Given the description of an element on the screen output the (x, y) to click on. 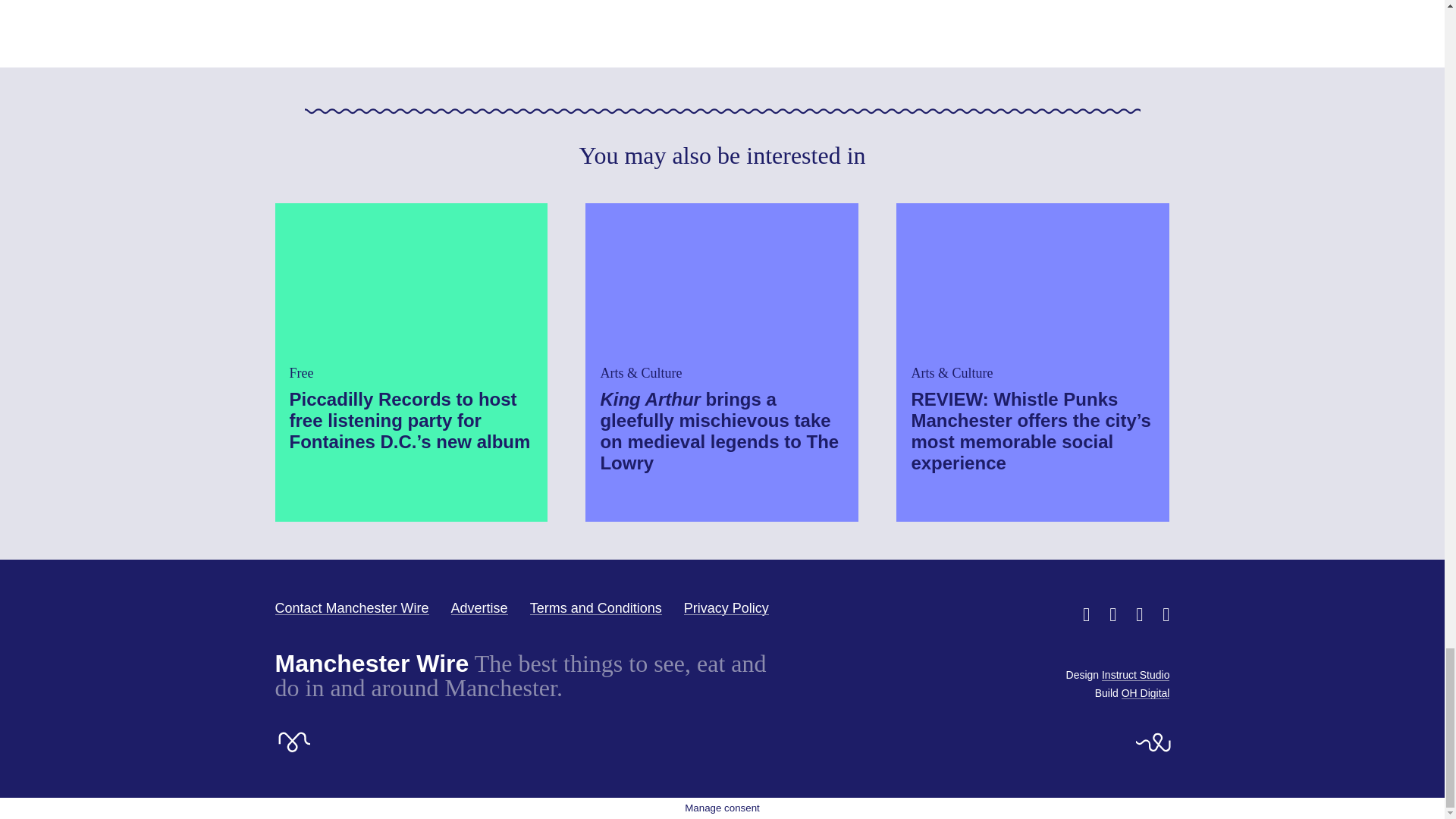
Follow us on facebook (1112, 613)
Follow us on instagram (1138, 613)
Follow us on twitter (1086, 613)
